Given the description of an element on the screen output the (x, y) to click on. 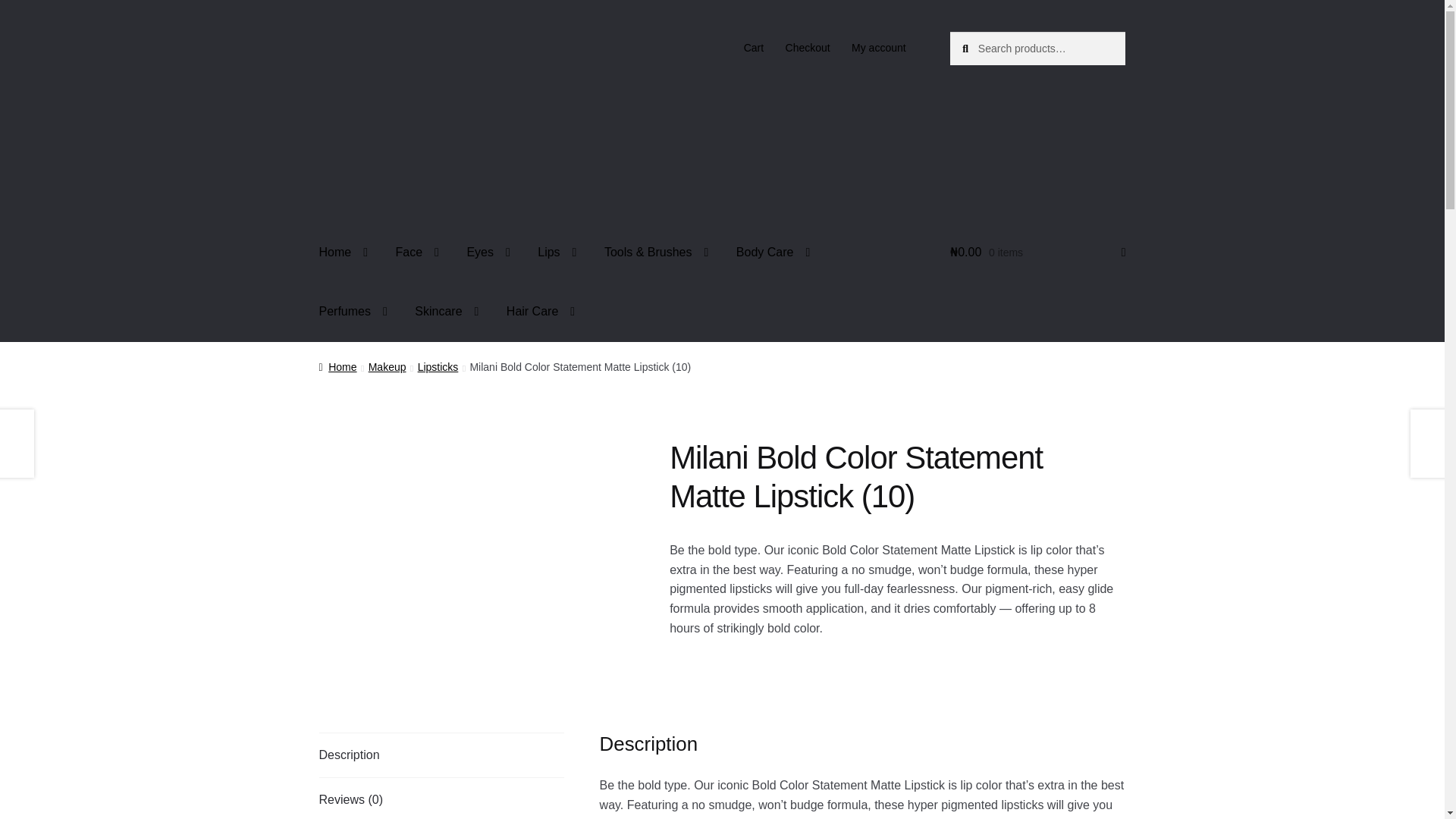
My account (879, 47)
Eyes (487, 252)
Lips (556, 252)
View your shopping cart (1037, 252)
Home (343, 252)
Cart (753, 47)
Face (417, 252)
Checkout (808, 47)
